Given the description of an element on the screen output the (x, y) to click on. 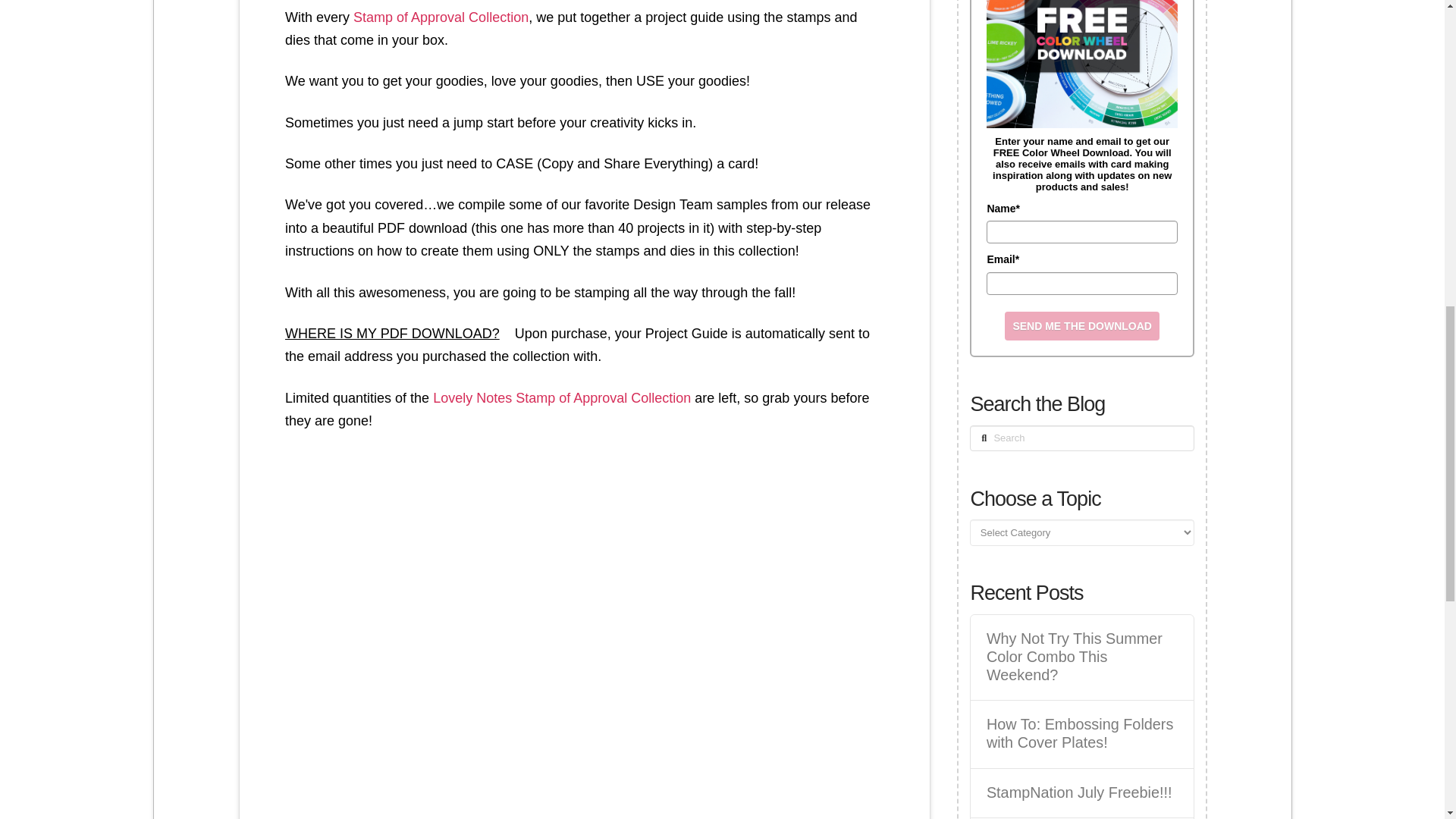
Stamp of Approval Collection (440, 17)
Lovely Notes Stamp of Approval Collection (561, 397)
